Given the description of an element on the screen output the (x, y) to click on. 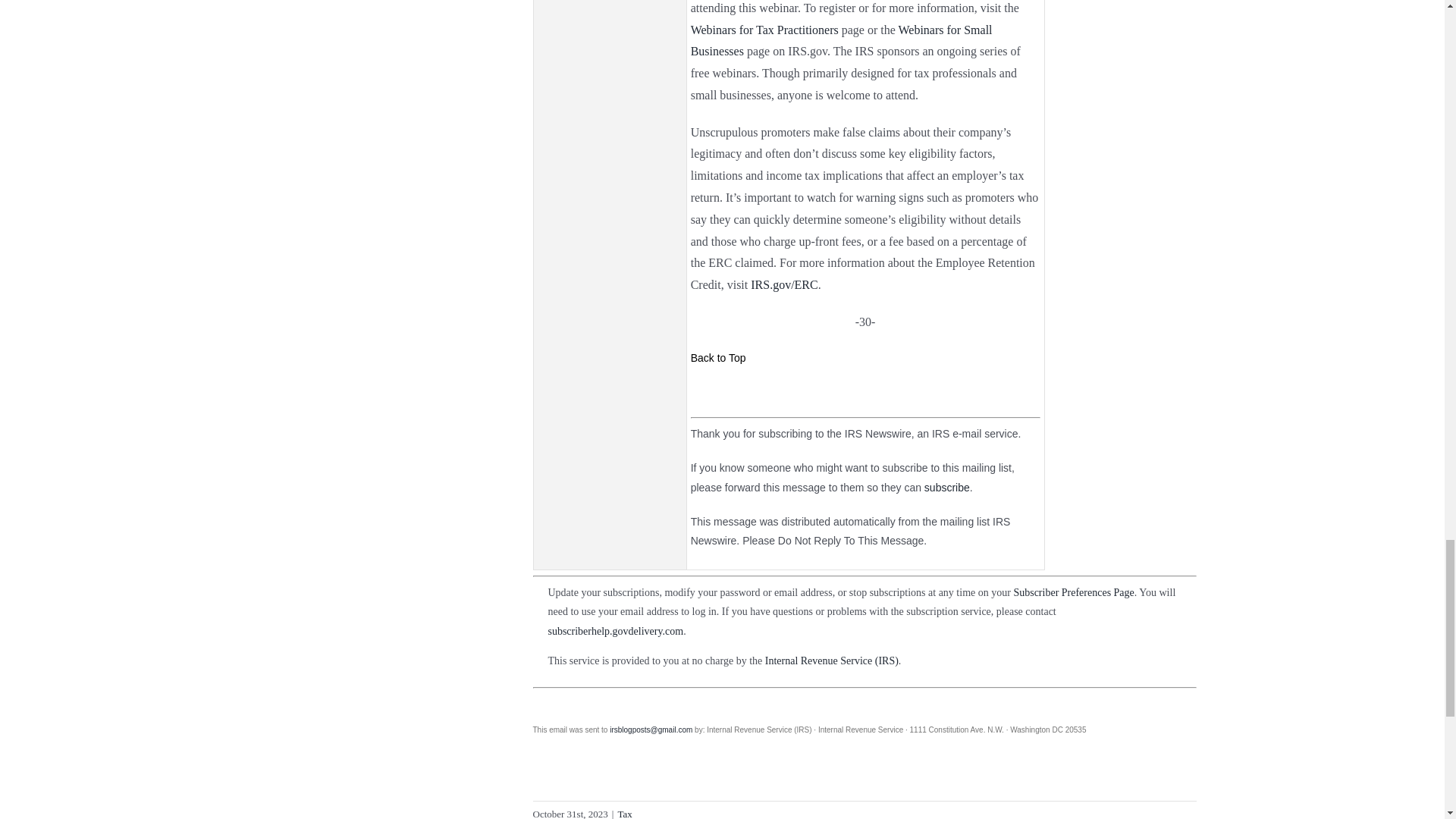
LinkedIn Logo (910, 391)
Twitter Logo (887, 391)
You Tube Videos (842, 391)
Facebook Logo (820, 391)
Instagram Logo (865, 391)
YouTube Logo (842, 391)
LinkedIn Icon (910, 391)
